Given the description of an element on the screen output the (x, y) to click on. 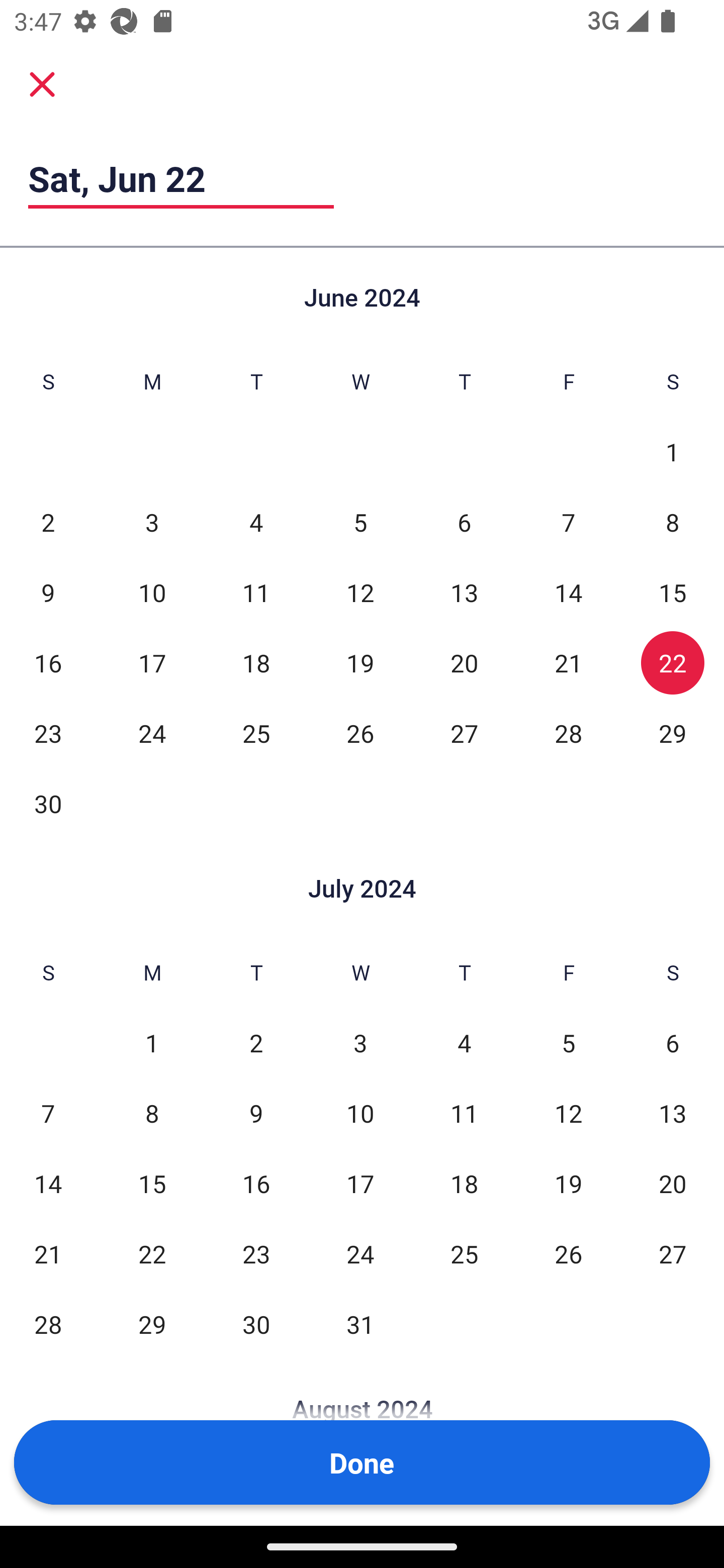
Cancel (41, 83)
Sat, Jun 22 (180, 178)
1 Sat, Jun 1, Not Selected (672, 452)
2 Sun, Jun 2, Not Selected (48, 521)
3 Mon, Jun 3, Not Selected (152, 521)
4 Tue, Jun 4, Not Selected (256, 521)
5 Wed, Jun 5, Not Selected (360, 521)
6 Thu, Jun 6, Not Selected (464, 521)
7 Fri, Jun 7, Not Selected (568, 521)
8 Sat, Jun 8, Not Selected (672, 521)
9 Sun, Jun 9, Not Selected (48, 591)
10 Mon, Jun 10, Not Selected (152, 591)
11 Tue, Jun 11, Not Selected (256, 591)
12 Wed, Jun 12, Not Selected (360, 591)
13 Thu, Jun 13, Not Selected (464, 591)
14 Fri, Jun 14, Not Selected (568, 591)
15 Sat, Jun 15, Not Selected (672, 591)
16 Sun, Jun 16, Not Selected (48, 662)
17 Mon, Jun 17, Not Selected (152, 662)
18 Tue, Jun 18, Not Selected (256, 662)
19 Wed, Jun 19, Not Selected (360, 662)
20 Thu, Jun 20, Not Selected (464, 662)
21 Fri, Jun 21, Not Selected (568, 662)
22 Sat, Jun 22, Selected (672, 662)
23 Sun, Jun 23, Not Selected (48, 732)
24 Mon, Jun 24, Not Selected (152, 732)
25 Tue, Jun 25, Not Selected (256, 732)
26 Wed, Jun 26, Not Selected (360, 732)
27 Thu, Jun 27, Not Selected (464, 732)
28 Fri, Jun 28, Not Selected (568, 732)
29 Sat, Jun 29, Not Selected (672, 732)
30 Sun, Jun 30, Not Selected (48, 803)
1 Mon, Jul 1, Not Selected (152, 1043)
2 Tue, Jul 2, Not Selected (256, 1043)
3 Wed, Jul 3, Not Selected (360, 1043)
4 Thu, Jul 4, Not Selected (464, 1043)
5 Fri, Jul 5, Not Selected (568, 1043)
6 Sat, Jul 6, Not Selected (672, 1043)
7 Sun, Jul 7, Not Selected (48, 1112)
8 Mon, Jul 8, Not Selected (152, 1112)
9 Tue, Jul 9, Not Selected (256, 1112)
10 Wed, Jul 10, Not Selected (360, 1112)
11 Thu, Jul 11, Not Selected (464, 1112)
12 Fri, Jul 12, Not Selected (568, 1112)
13 Sat, Jul 13, Not Selected (672, 1112)
14 Sun, Jul 14, Not Selected (48, 1182)
15 Mon, Jul 15, Not Selected (152, 1182)
16 Tue, Jul 16, Not Selected (256, 1182)
17 Wed, Jul 17, Not Selected (360, 1182)
18 Thu, Jul 18, Not Selected (464, 1182)
19 Fri, Jul 19, Not Selected (568, 1182)
20 Sat, Jul 20, Not Selected (672, 1182)
21 Sun, Jul 21, Not Selected (48, 1253)
22 Mon, Jul 22, Not Selected (152, 1253)
23 Tue, Jul 23, Not Selected (256, 1253)
24 Wed, Jul 24, Not Selected (360, 1253)
25 Thu, Jul 25, Not Selected (464, 1253)
26 Fri, Jul 26, Not Selected (568, 1253)
27 Sat, Jul 27, Not Selected (672, 1253)
28 Sun, Jul 28, Not Selected (48, 1323)
29 Mon, Jul 29, Not Selected (152, 1323)
30 Tue, Jul 30, Not Selected (256, 1323)
31 Wed, Jul 31, Not Selected (360, 1323)
Done Button Done (361, 1462)
